Given the description of an element on the screen output the (x, y) to click on. 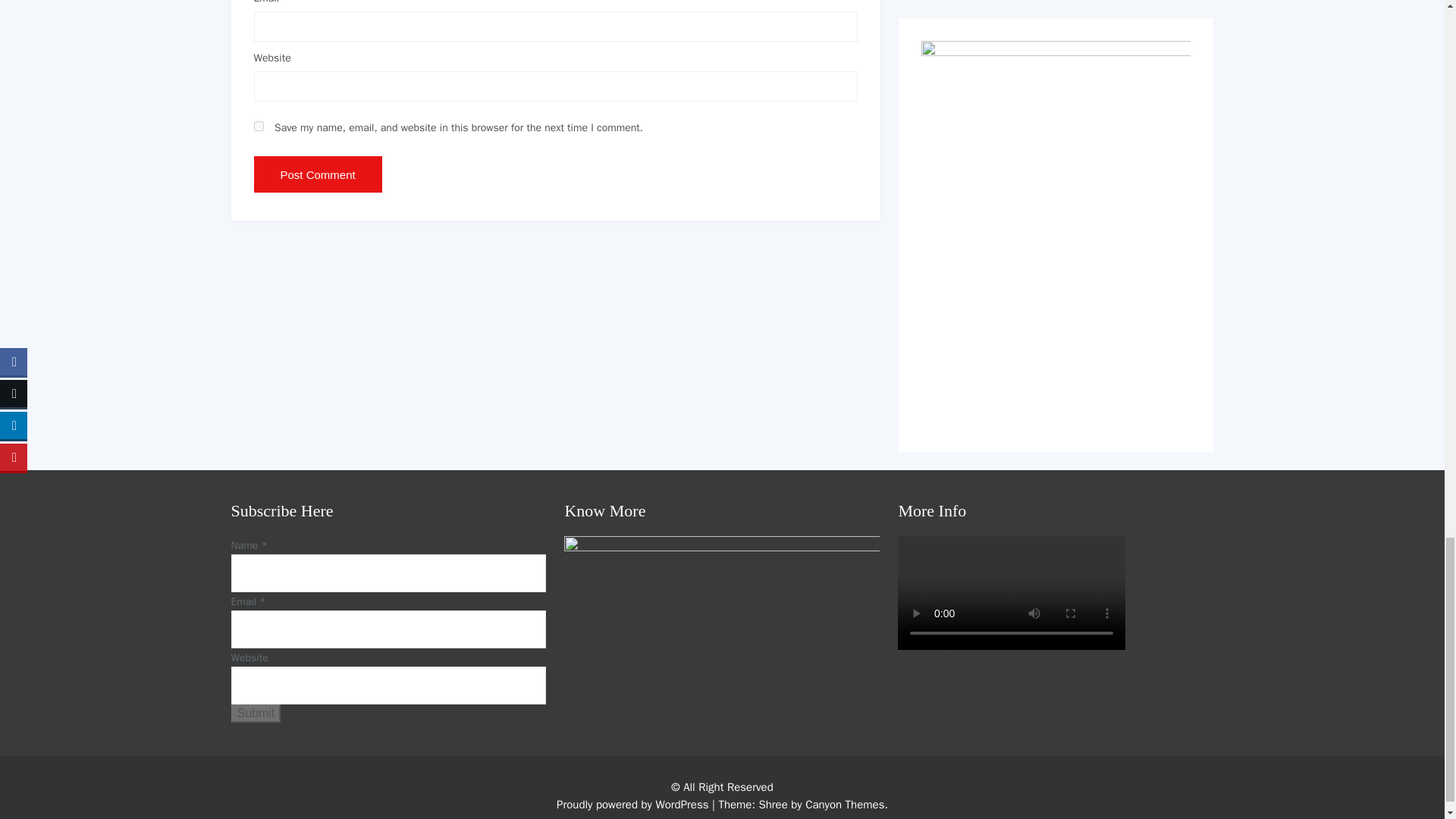
yes (258, 126)
Know More (721, 624)
Post Comment (317, 174)
Post Comment (317, 174)
